Given the description of an element on the screen output the (x, y) to click on. 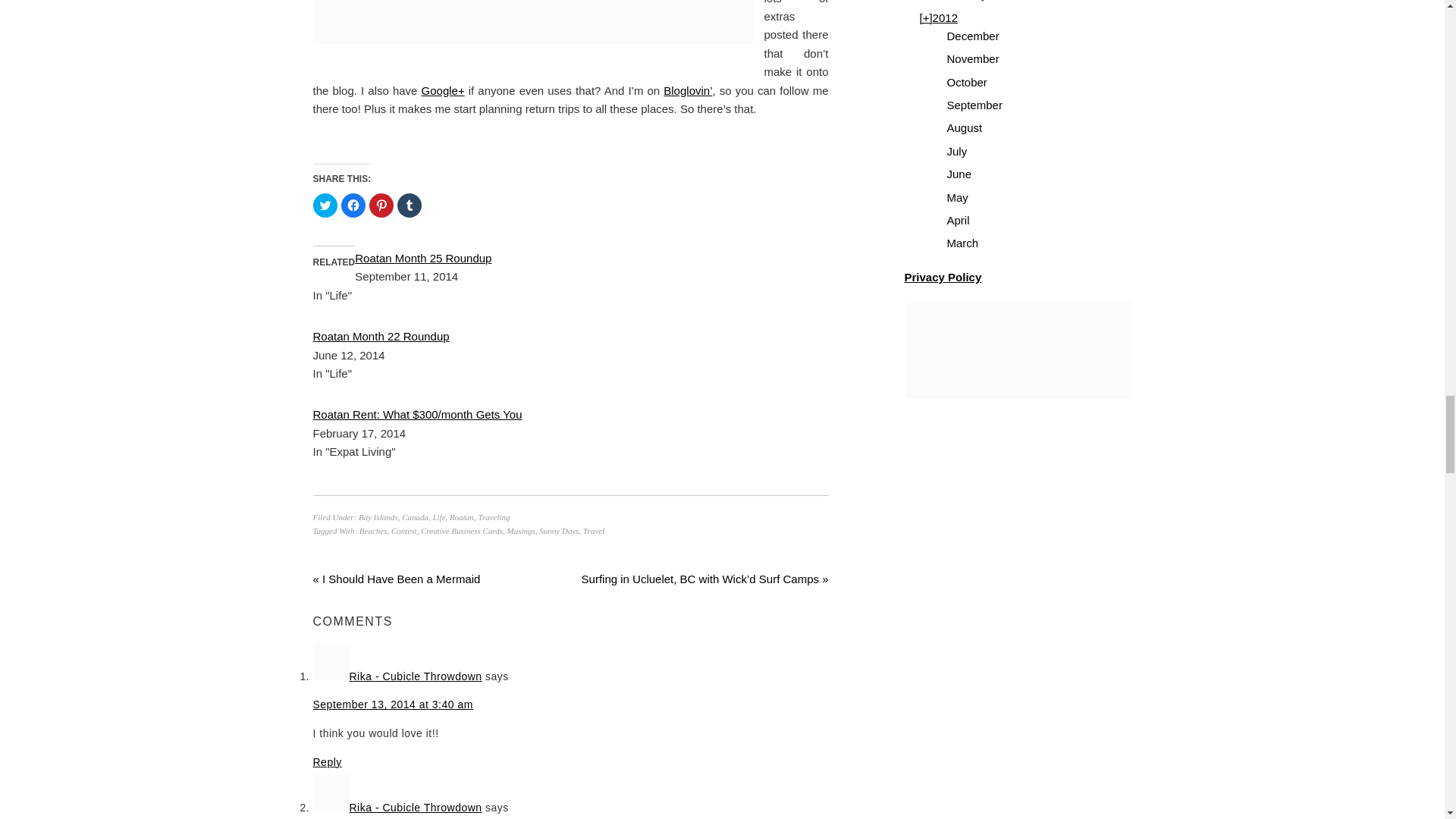
Roatan Month 22 Roundup (380, 336)
Roatan Month 25 Roundup (423, 257)
Click to share on Facebook (352, 205)
Click to share on Pinterest (380, 205)
Click to share on Twitter (324, 205)
Roatan Month 25 Roundup (423, 257)
Bay Islands (377, 516)
Click to share on Tumblr (409, 205)
Roatan Month 22 Roundup (380, 336)
